Given the description of an element on the screen output the (x, y) to click on. 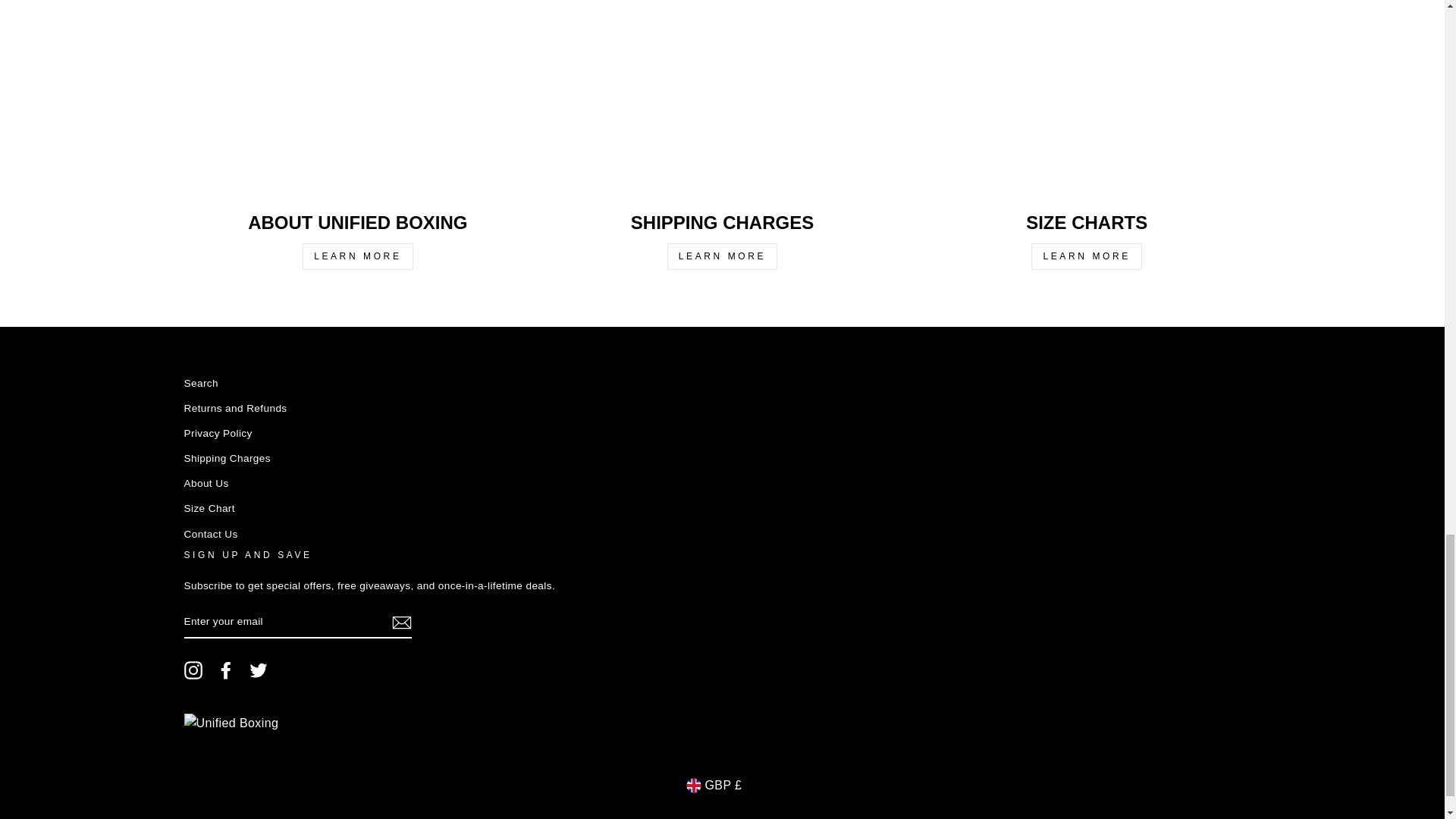
Unified Boxing on Instagram (192, 669)
Unified Boxing on Facebook (225, 669)
Unified Boxing on Twitter (257, 669)
